Given the description of an element on the screen output the (x, y) to click on. 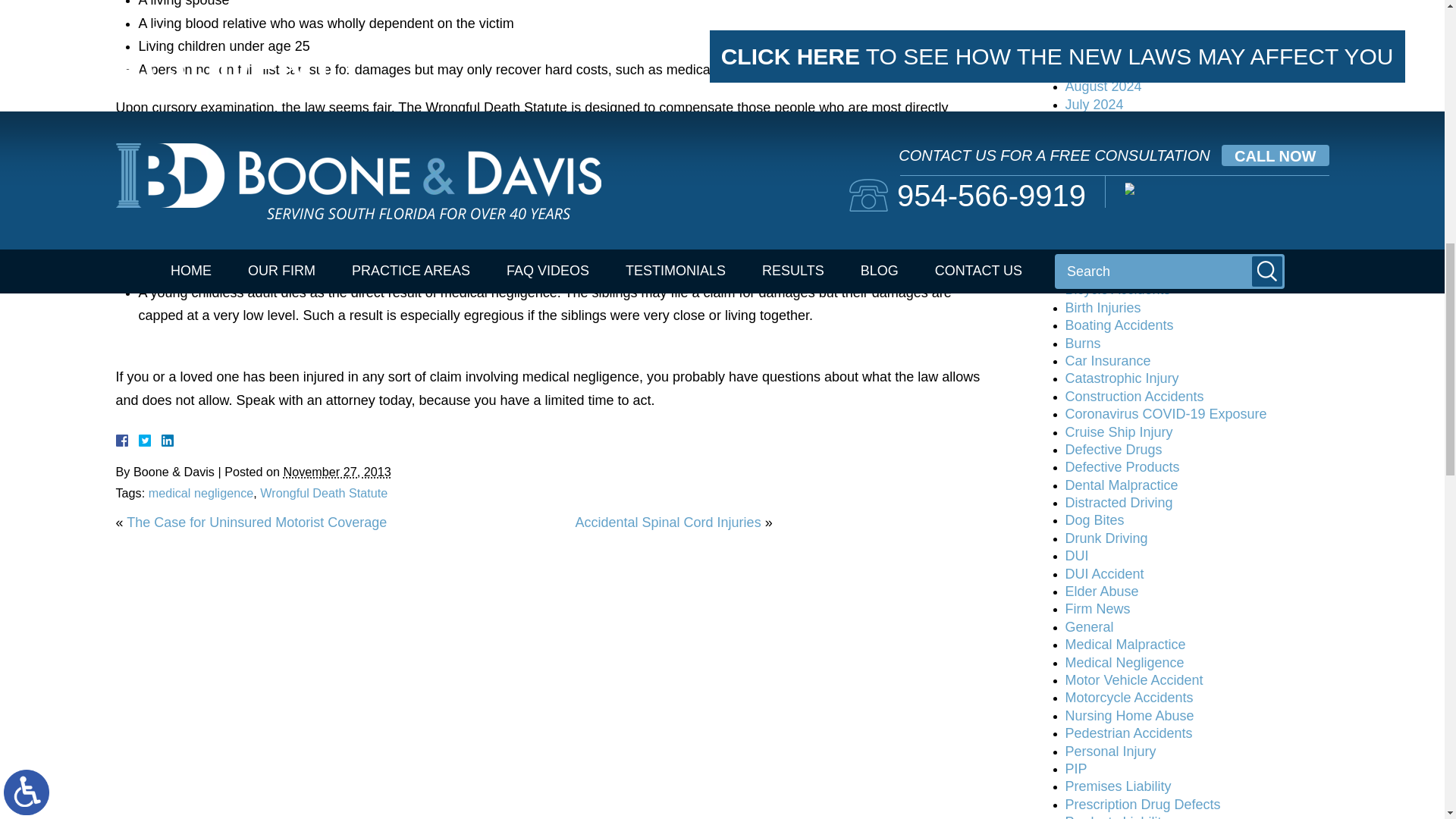
2013-11-27T10:23:26-0800 (337, 471)
Facebook (139, 440)
LinkedIn (160, 440)
Twitter (149, 440)
